Given the description of an element on the screen output the (x, y) to click on. 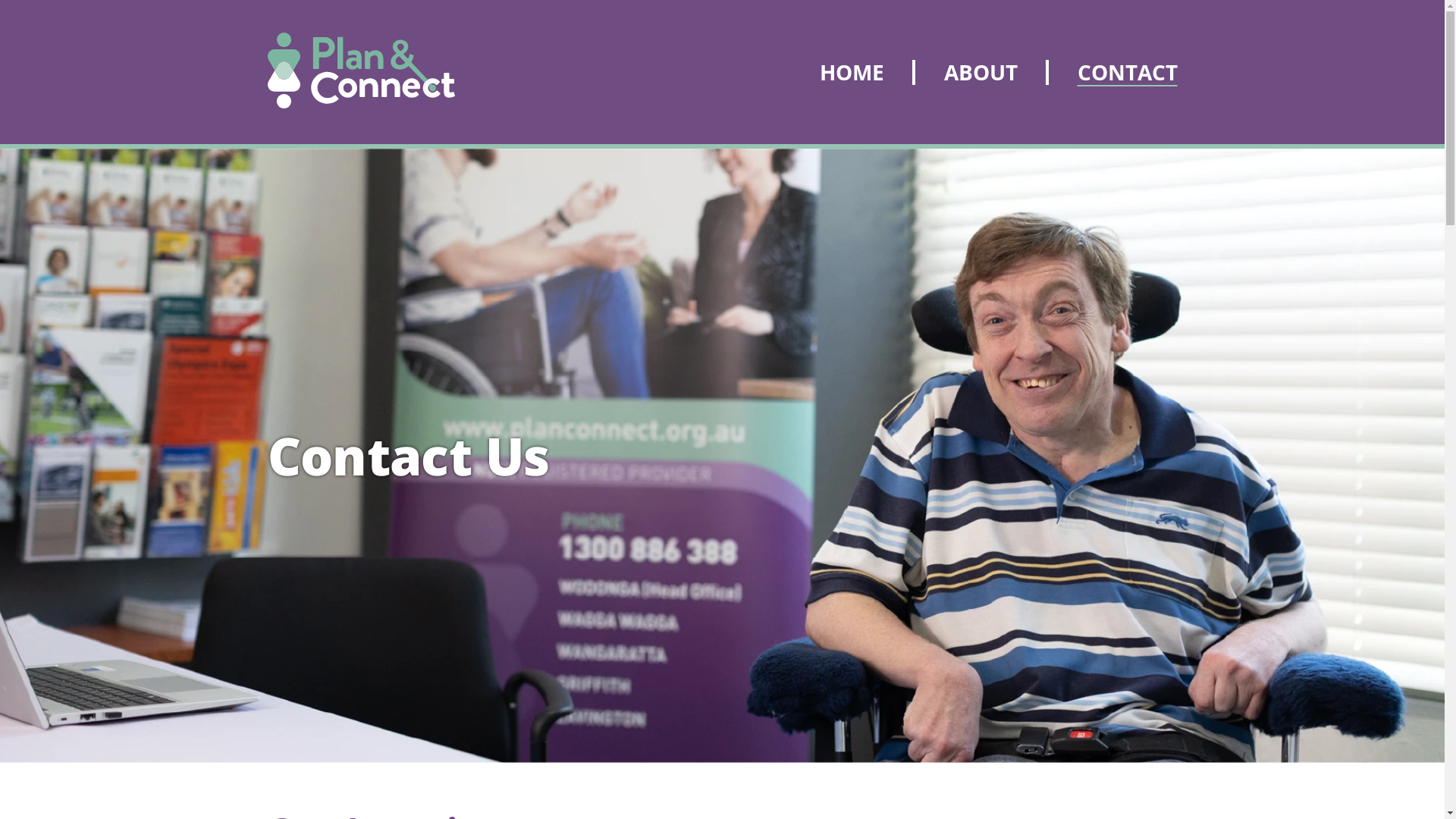
HOME Element type: text (865, 71)
ABOUT Element type: text (978, 71)
CONTACT Element type: text (1111, 71)
